Given the description of an element on the screen output the (x, y) to click on. 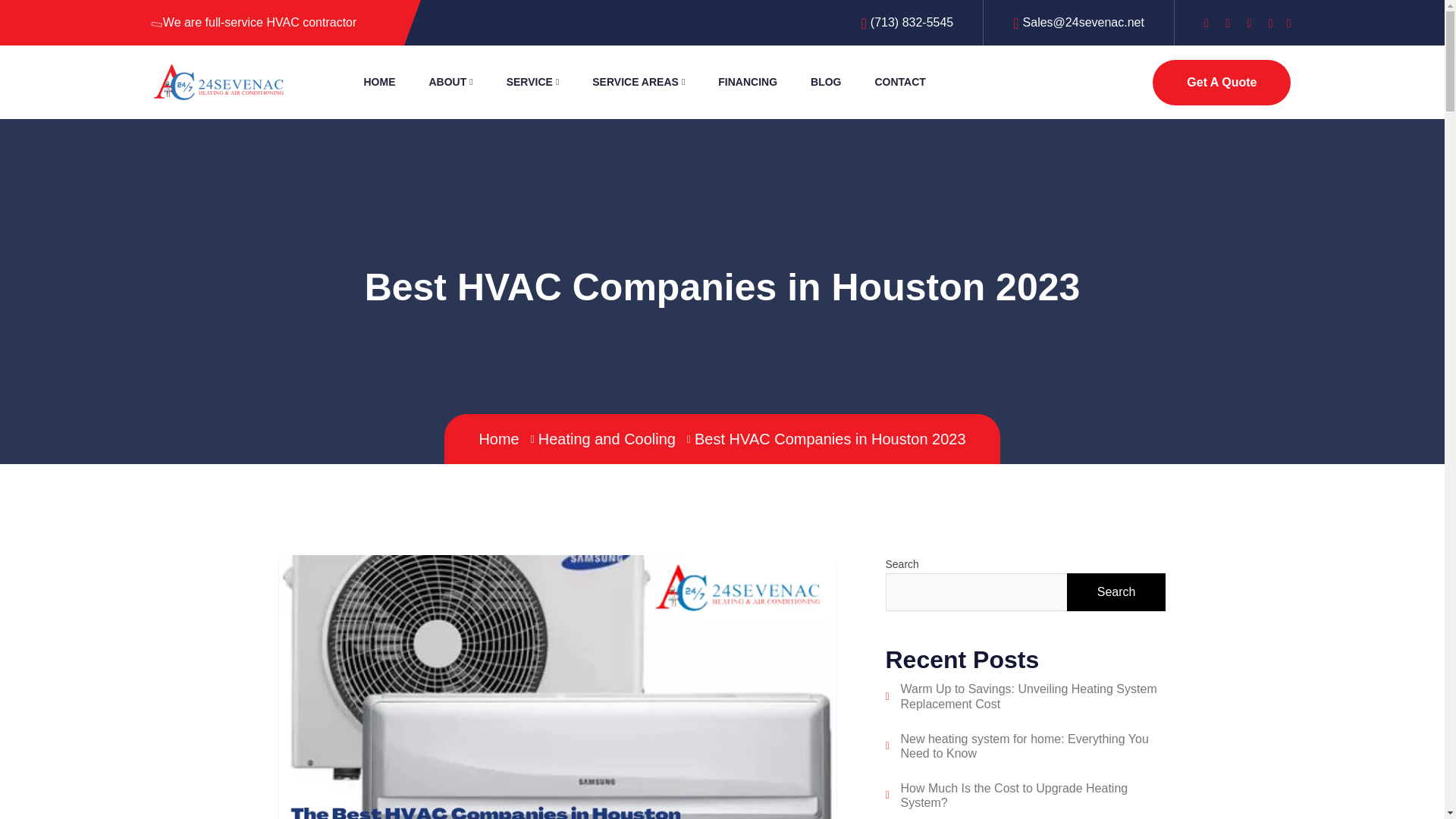
SERVICE AREAS (638, 81)
Home (508, 438)
Service Areas (638, 81)
Get A Quote (1221, 81)
